Given the description of an element on the screen output the (x, y) to click on. 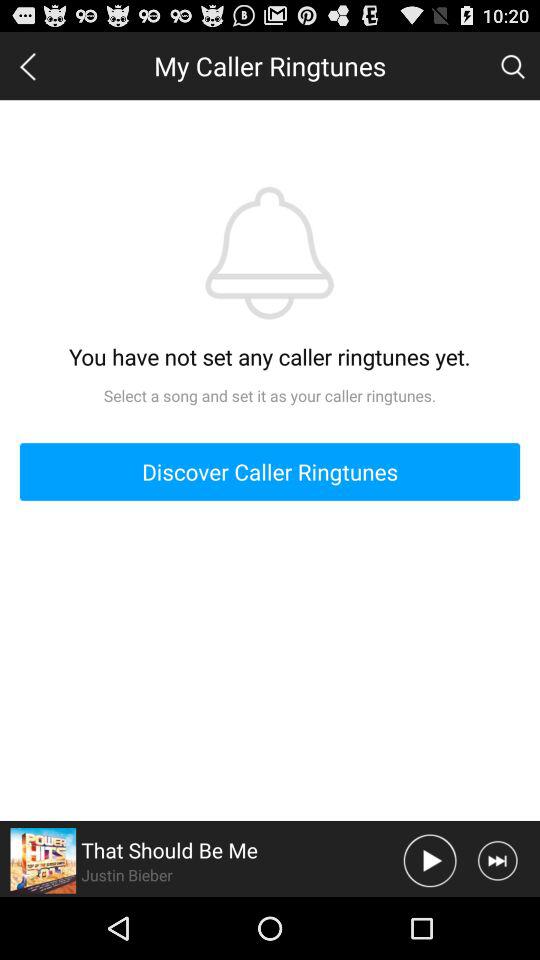
fast forward (497, 860)
